Given the description of an element on the screen output the (x, y) to click on. 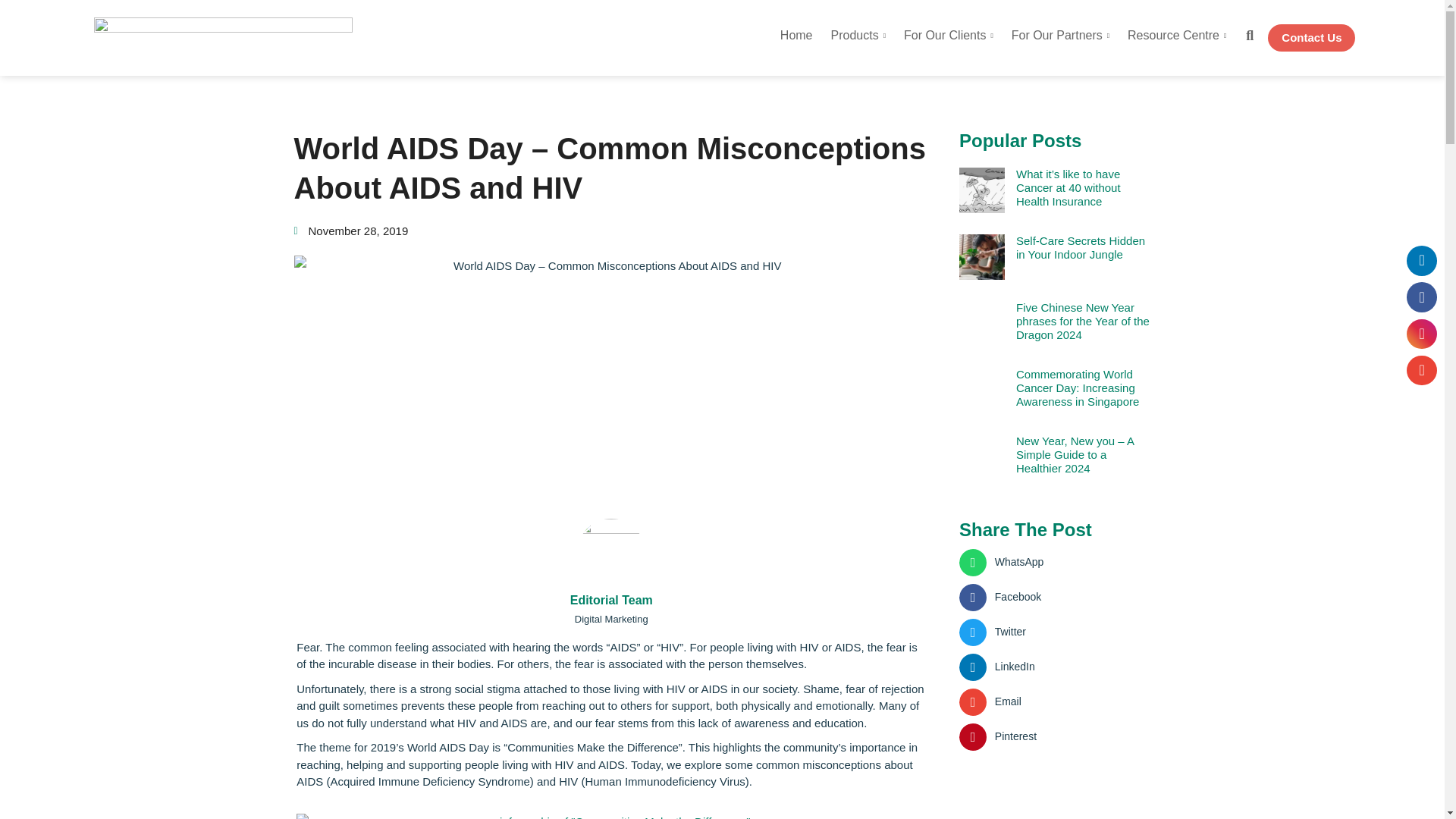
Self-Care Secrets Hidden in Your Indoor Jungle (1083, 247)
Products (858, 37)
For Our Clients (949, 37)
Home (796, 37)
